Given the description of an element on the screen output the (x, y) to click on. 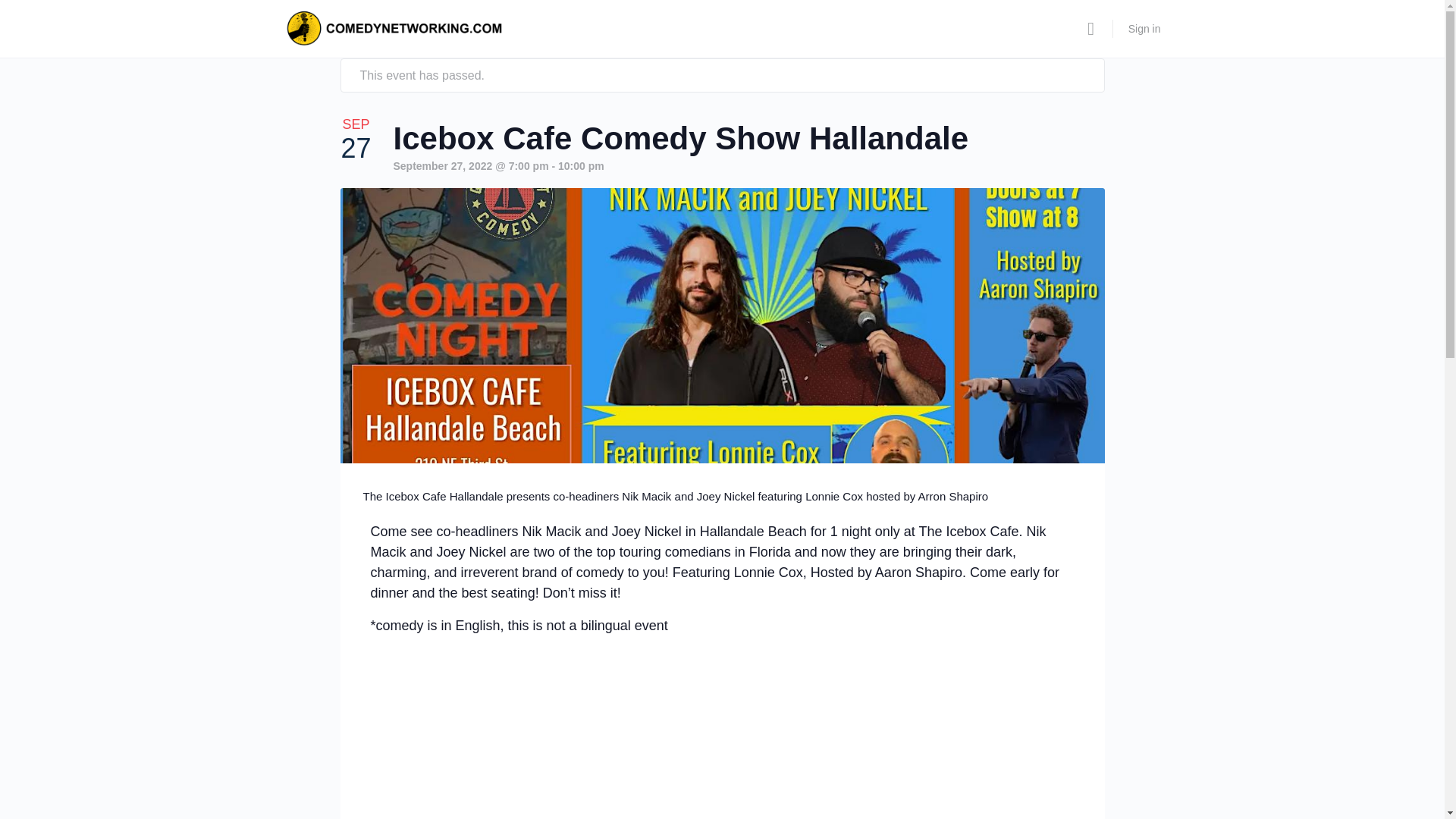
Home (288, 24)
Sign in (1144, 28)
Events (330, 24)
